Given the description of an element on the screen output the (x, y) to click on. 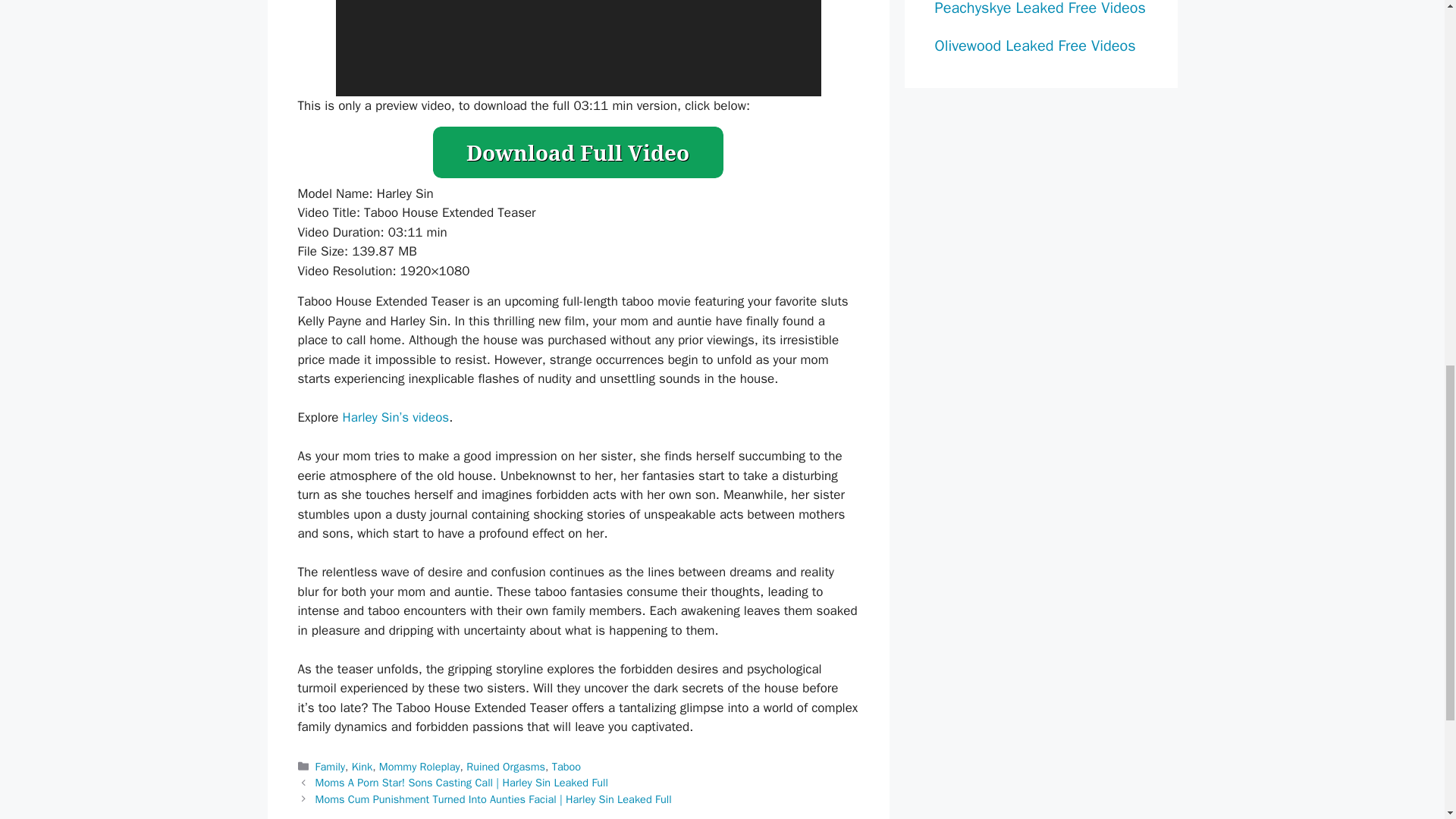
Kink (362, 766)
Peachyskye Leaked Free Videos (1039, 8)
Olivewood Leaked Free Videos (1034, 45)
Mommy Roleplay (419, 766)
Taboo (565, 766)
Family (330, 766)
Ruined Orgasms (504, 766)
